Given the description of an element on the screen output the (x, y) to click on. 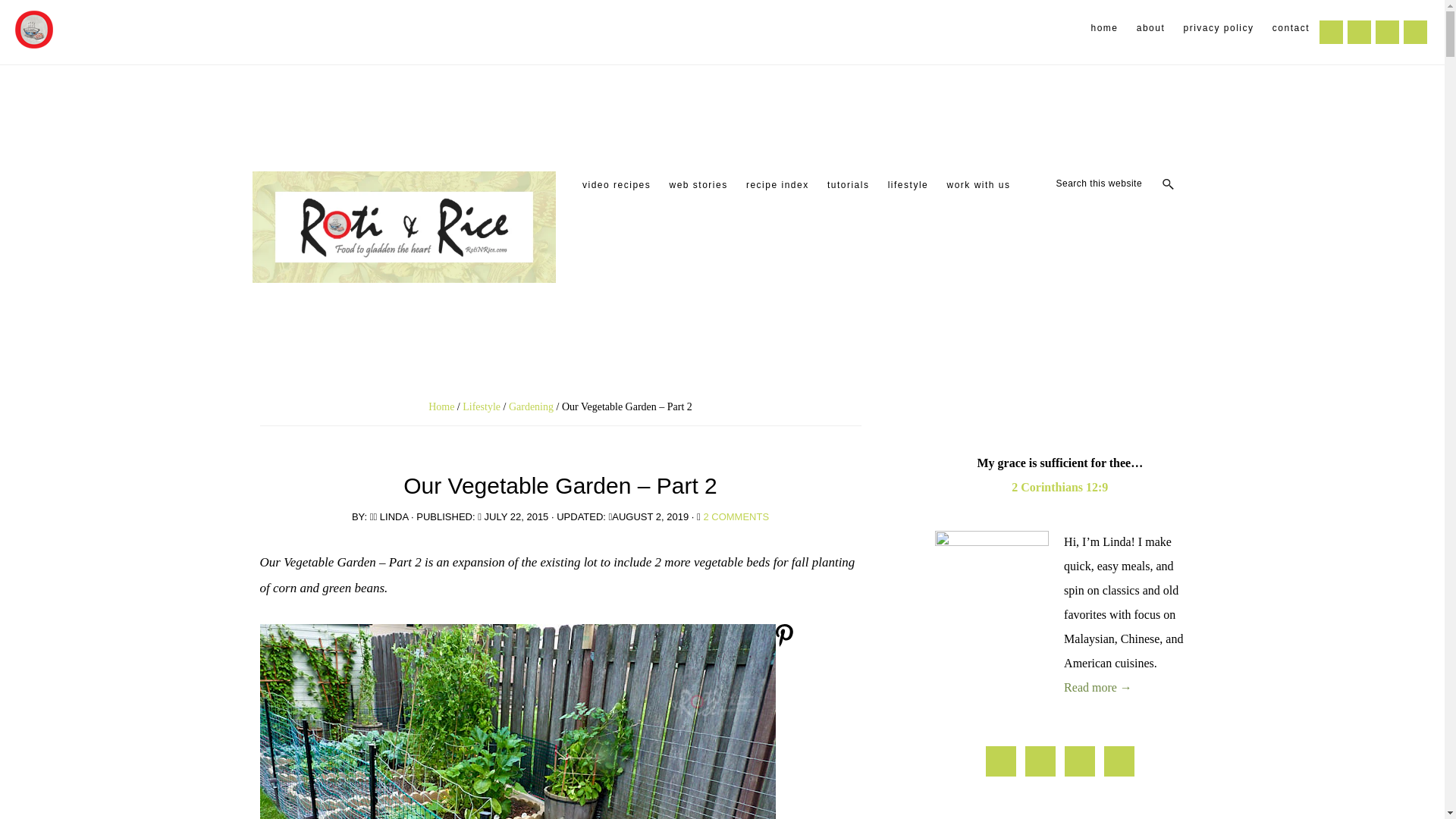
privacy policy (1219, 27)
video recipes (616, 184)
recipe index (777, 184)
web stories (698, 184)
contact (1291, 27)
about (1151, 27)
home (1104, 27)
